Given the description of an element on the screen output the (x, y) to click on. 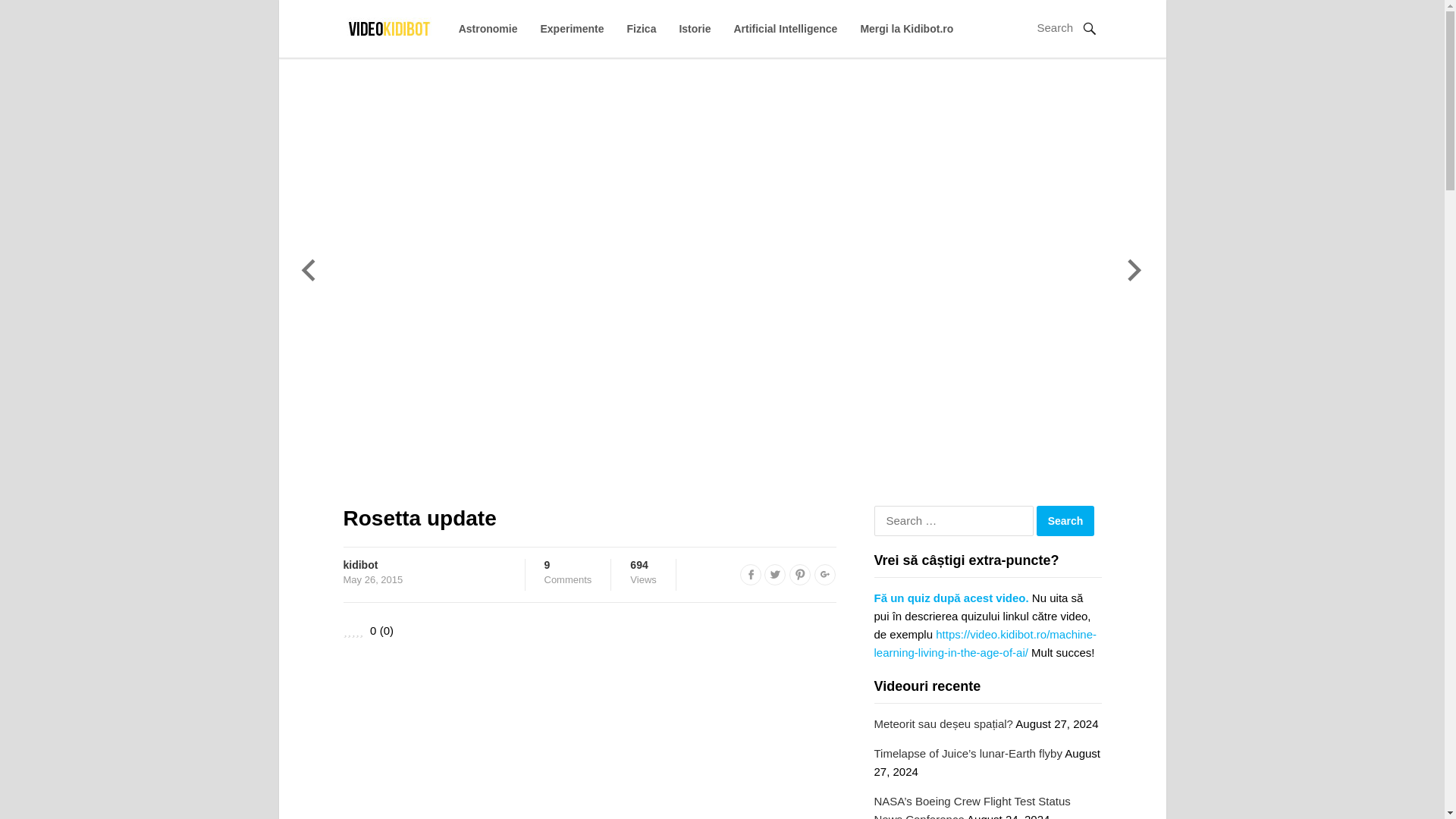
Experimente (572, 28)
kidibot (359, 564)
Posts by kidibot (359, 564)
Artificial Intelligence (785, 28)
Share on Facebook (750, 574)
Mergi la Kidibot.ro (568, 572)
Search (906, 28)
Share on Pinterest (1065, 521)
Search (799, 574)
